Given the description of an element on the screen output the (x, y) to click on. 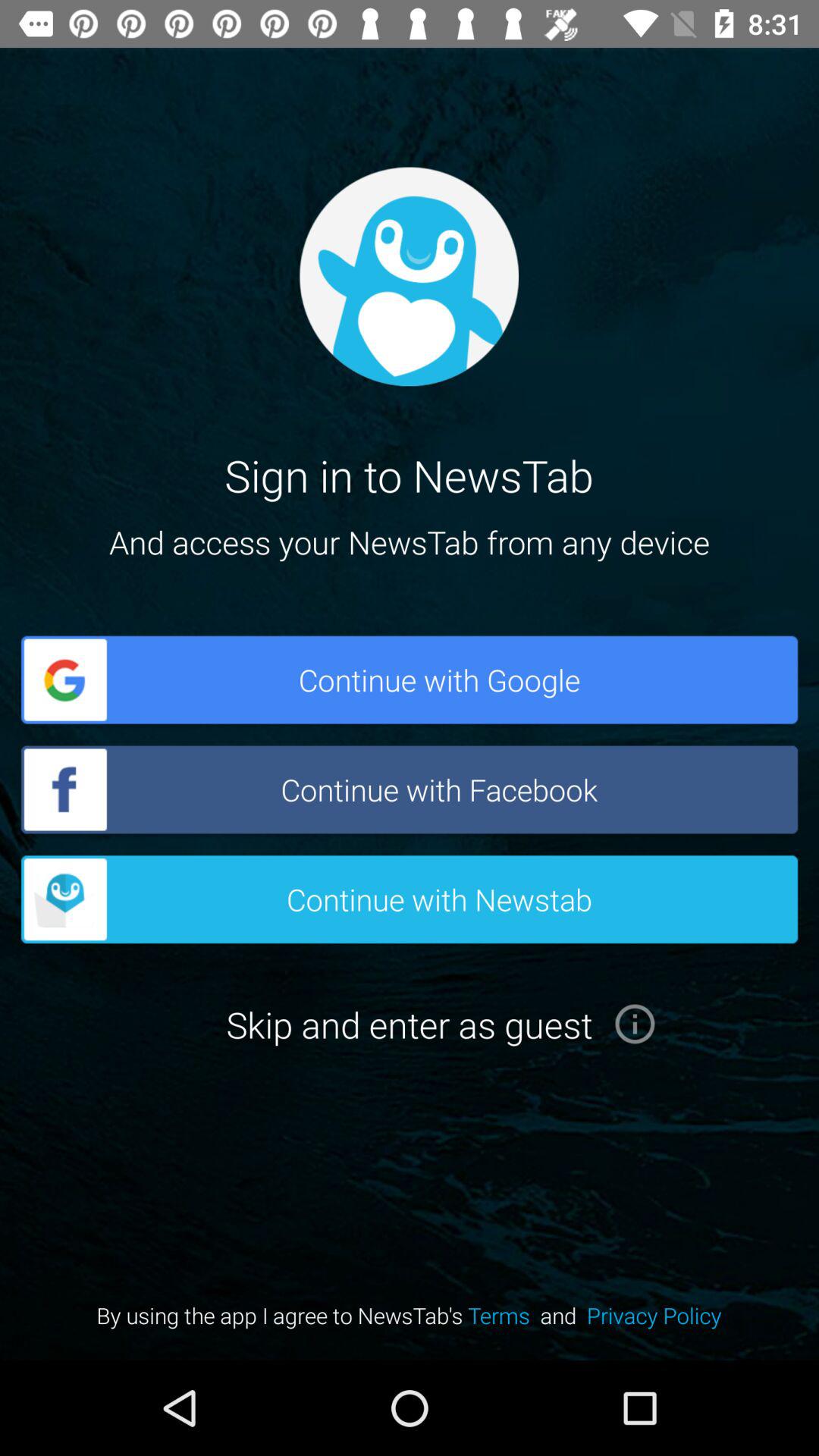
select the image on the web page (408, 276)
click the button below the button continue with newstab on the web page (409, 1024)
click the button terms on the web page (503, 1315)
